Given the description of an element on the screen output the (x, y) to click on. 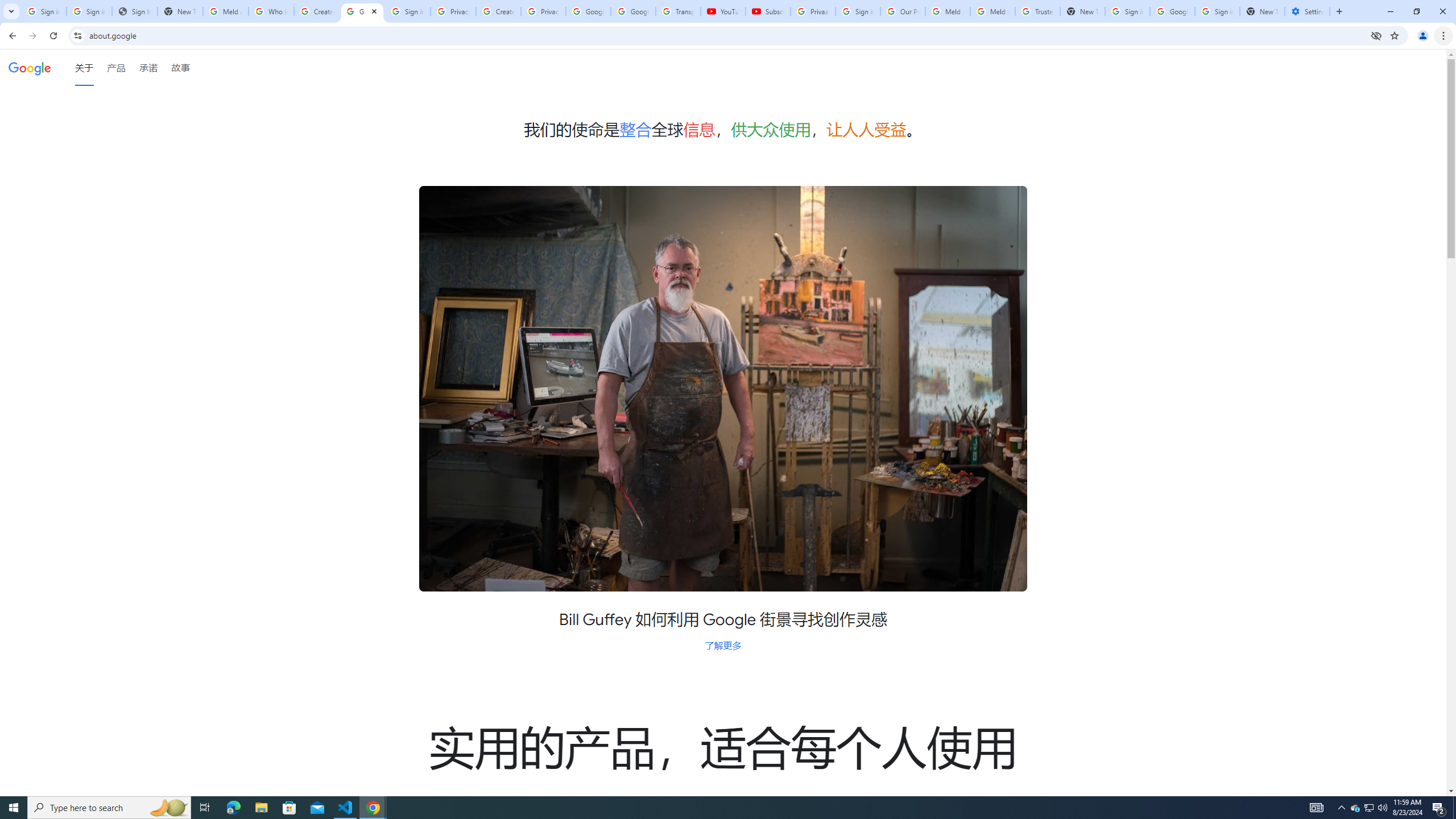
Create your Google Account (316, 11)
YouTube (723, 11)
Create your Google Account (497, 11)
Sign in - Google Accounts (88, 11)
Settings - Addresses and more (1307, 11)
Sign in - Google Accounts (43, 11)
Google (29, 67)
Google Account (633, 11)
New Tab (1262, 11)
